Given the description of an element on the screen output the (x, y) to click on. 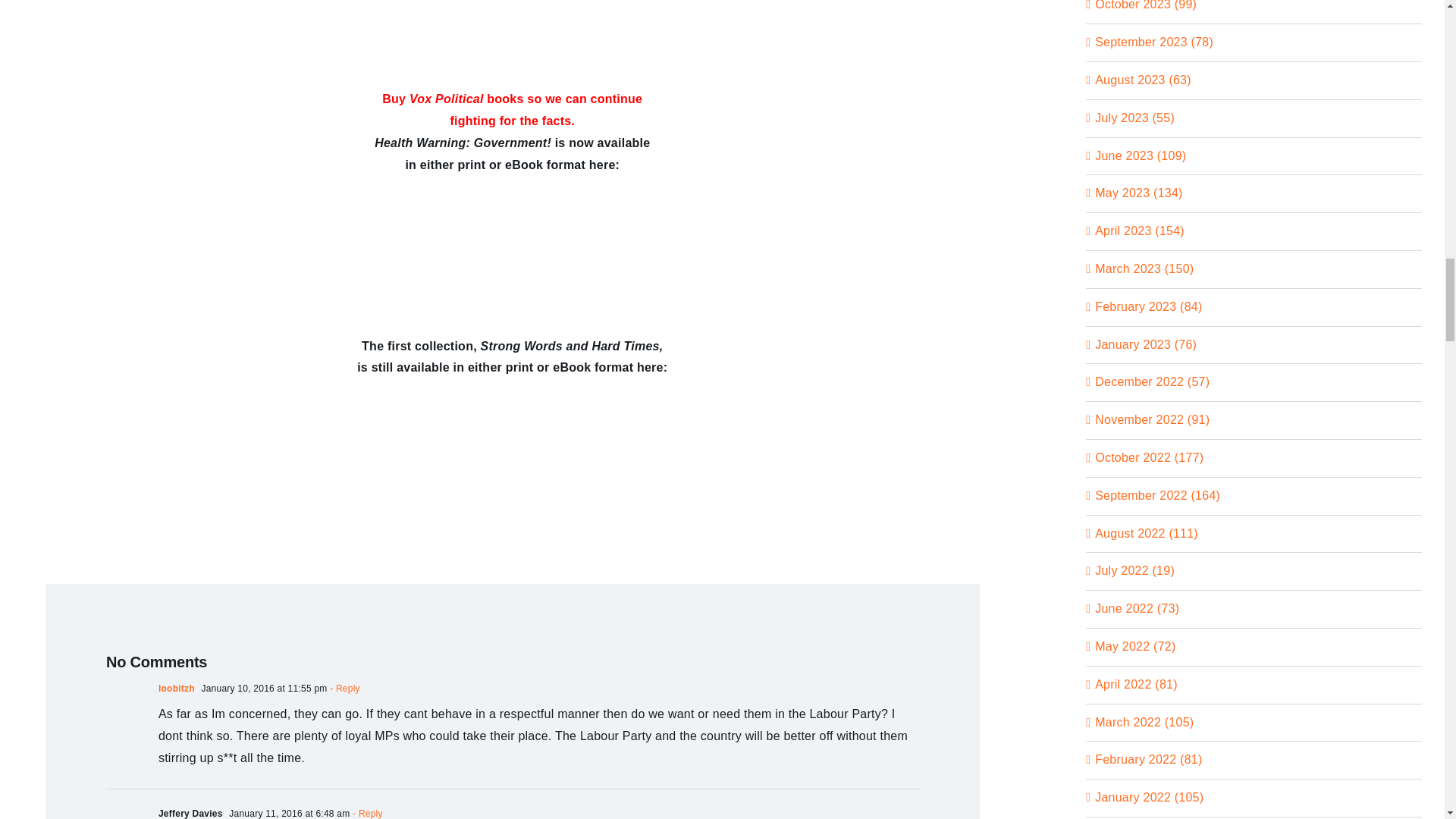
- Reply (343, 688)
- Reply (366, 813)
loobitzh (176, 688)
